Given the description of an element on the screen output the (x, y) to click on. 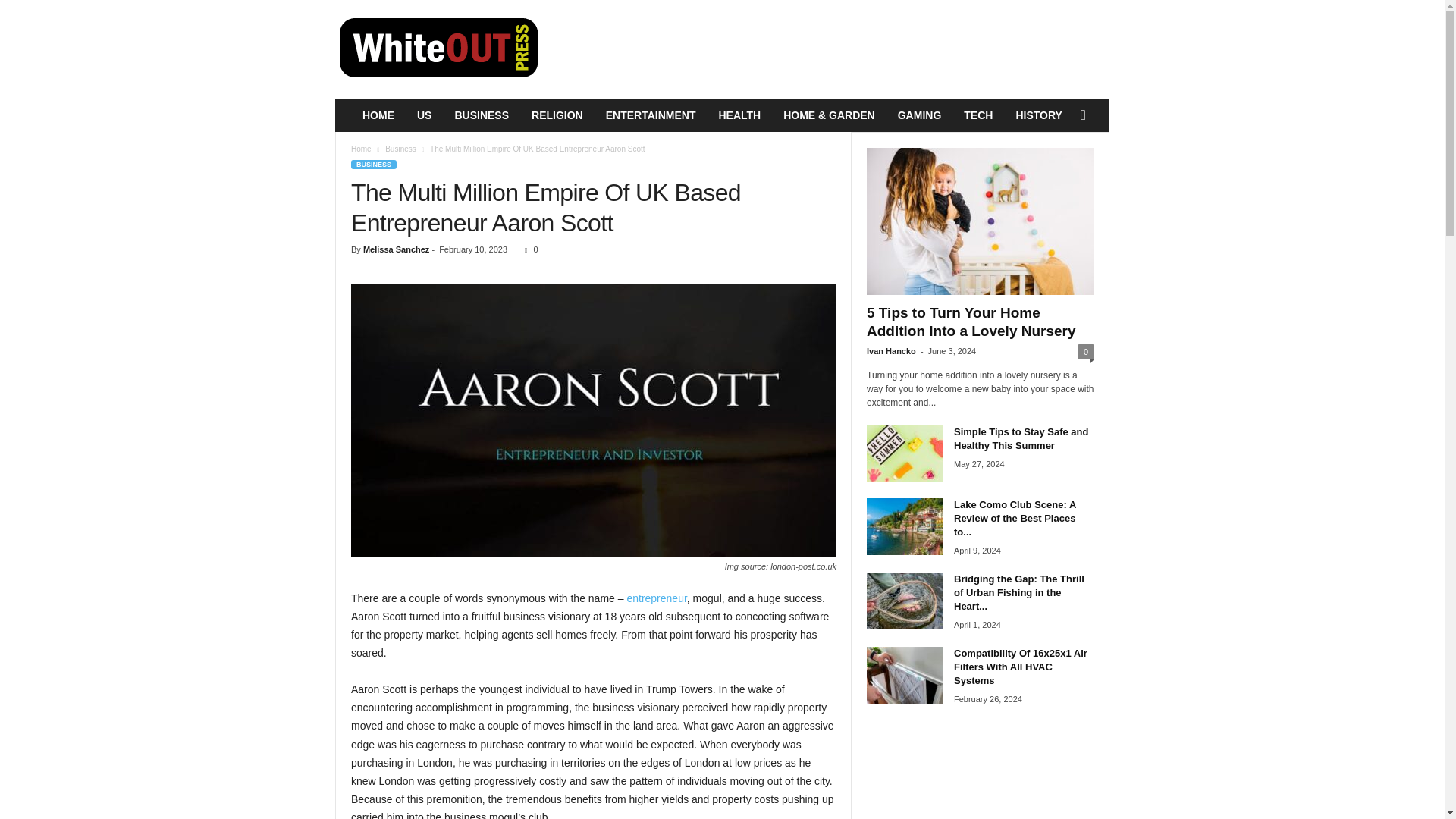
US (424, 114)
WhiteOut Press (437, 48)
HOME (378, 114)
Business (400, 148)
Melissa Sanchez (395, 248)
TECH (978, 114)
BUSINESS (480, 114)
Whiteout Press (437, 49)
View all posts in Business (400, 148)
ENTERTAINMENT (650, 114)
0 (527, 248)
BUSINESS (373, 163)
Simple Tips to Stay Safe and Healthy This Summer (904, 453)
aaron (592, 420)
RELIGION (556, 114)
